Given the description of an element on the screen output the (x, y) to click on. 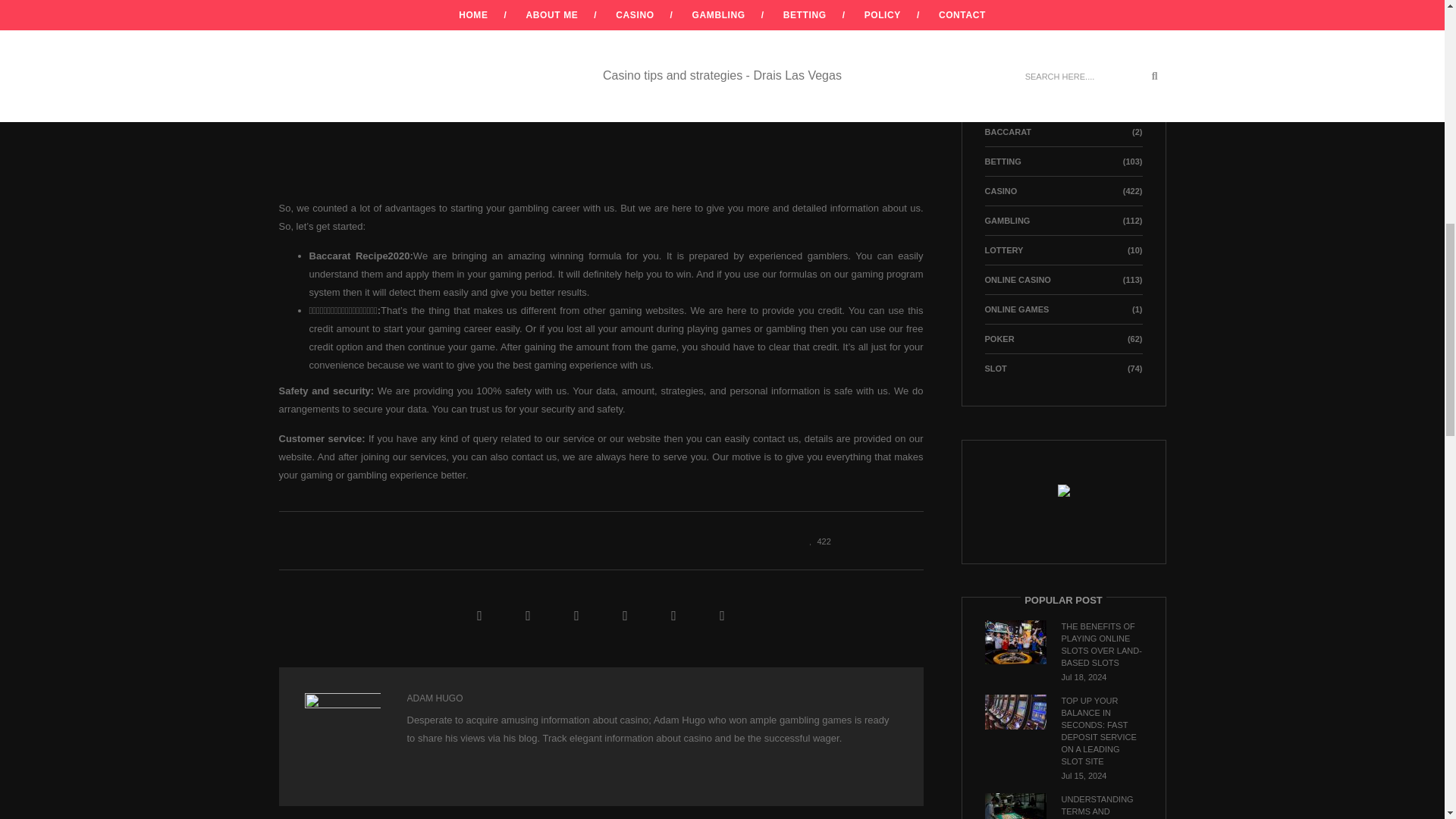
GAMBLING (1006, 220)
Like (815, 539)
422 (815, 539)
BACCARAT (1007, 131)
LOTTERY (1003, 249)
BETTING (1002, 161)
ADAM HUGO (434, 697)
CASINO (1000, 190)
